Given the description of an element on the screen output the (x, y) to click on. 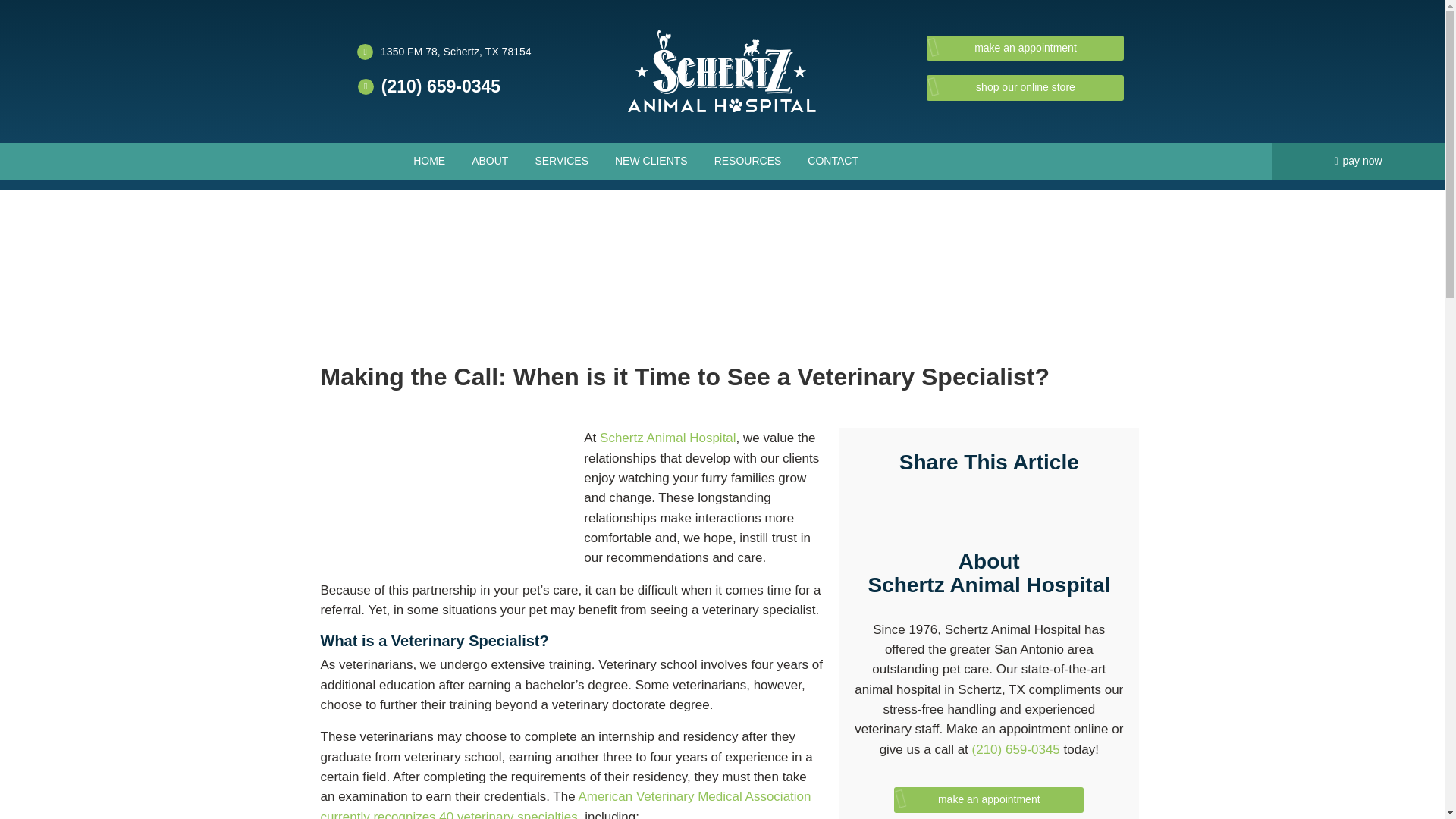
ABOUT (489, 161)
Schertz-Animal-Hospital-logow (721, 71)
CONTACT (832, 161)
HOME (429, 161)
make an appointment (1025, 48)
shop our online store (1025, 87)
SERVICES (561, 161)
NEW CLIENTS (651, 161)
1350 FM 78, Schertz, TX 78154 (455, 50)
RESOURCES (747, 161)
